Given the description of an element on the screen output the (x, y) to click on. 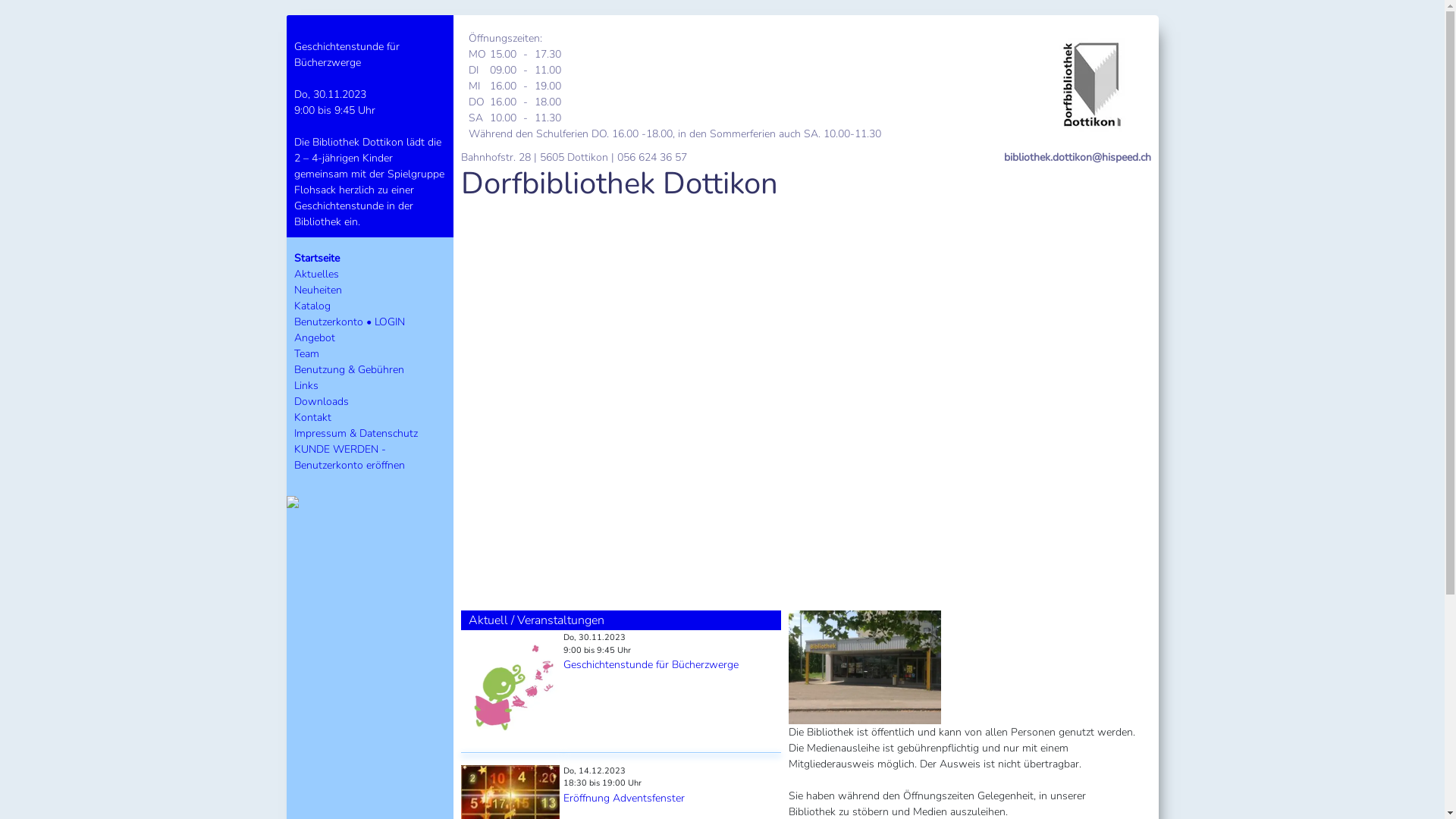
Katalog Element type: text (312, 305)
Weiter Element type: text (1099, 397)
Impressum & Datenschutz Element type: text (355, 433)
Startseite Element type: text (316, 258)
Links Element type: text (306, 385)
Downloads Element type: text (321, 401)
Team Element type: text (306, 353)
Kontakt Element type: text (312, 417)
Aktuelles Element type: text (316, 273)
Neuheiten Element type: text (318, 289)
bibliothek.dottikon@hispeed.ch Element type: text (1077, 157)
Angebot Element type: text (314, 337)
